Given the description of an element on the screen output the (x, y) to click on. 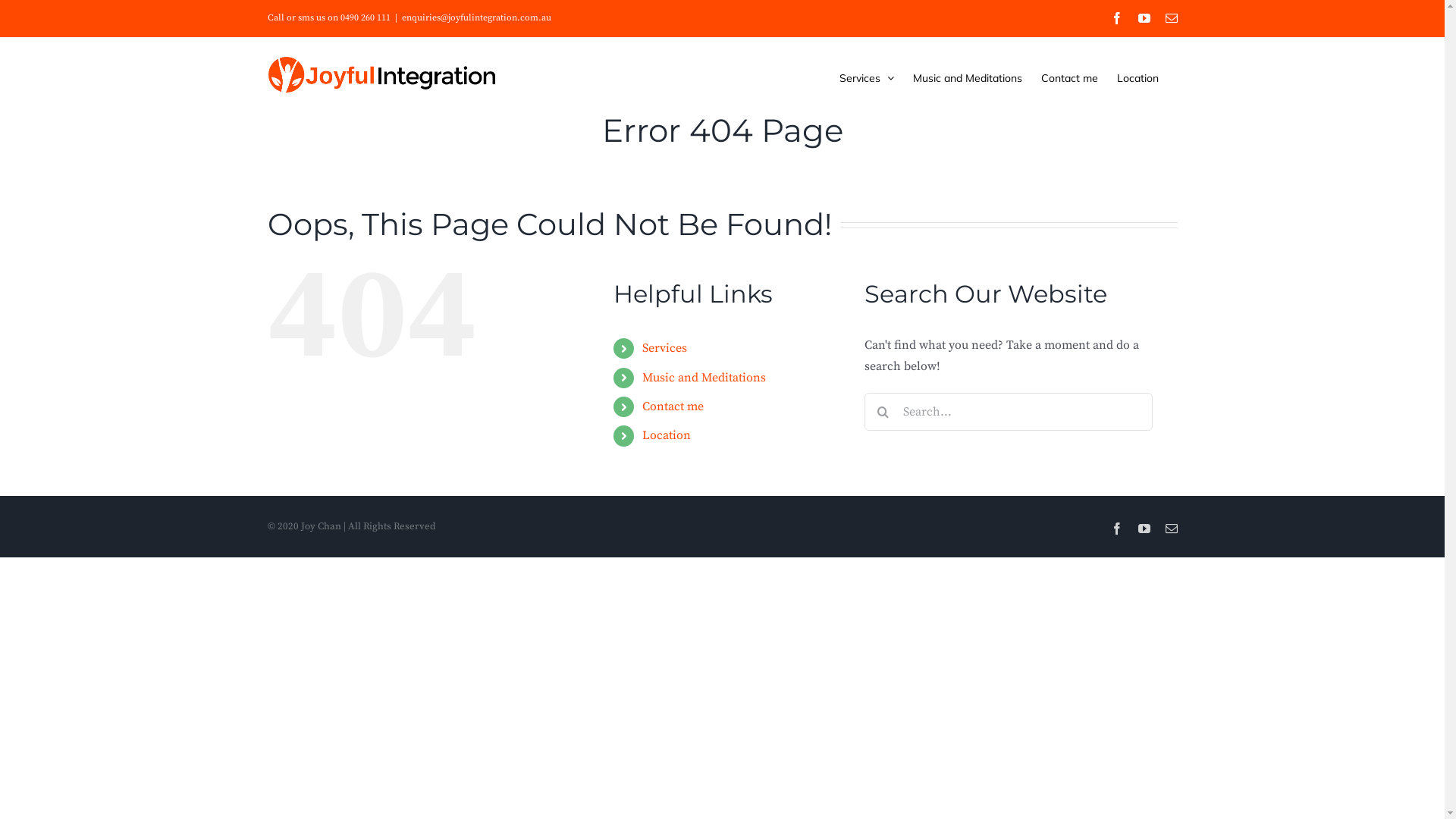
Location Element type: text (1136, 77)
enquiries@joyfulintegration.com.au Element type: text (476, 17)
Email Element type: text (1170, 528)
Email Element type: text (1170, 18)
YouTube Element type: text (1143, 18)
Services Element type: text (664, 347)
Music and Meditations Element type: text (703, 377)
Contact me Element type: text (1068, 77)
Facebook Element type: text (1116, 528)
Facebook Element type: text (1116, 18)
Services Element type: text (865, 77)
YouTube Element type: text (1143, 528)
Music and Meditations Element type: text (967, 77)
Location Element type: text (666, 434)
Contact me Element type: text (672, 406)
